Given the description of an element on the screen output the (x, y) to click on. 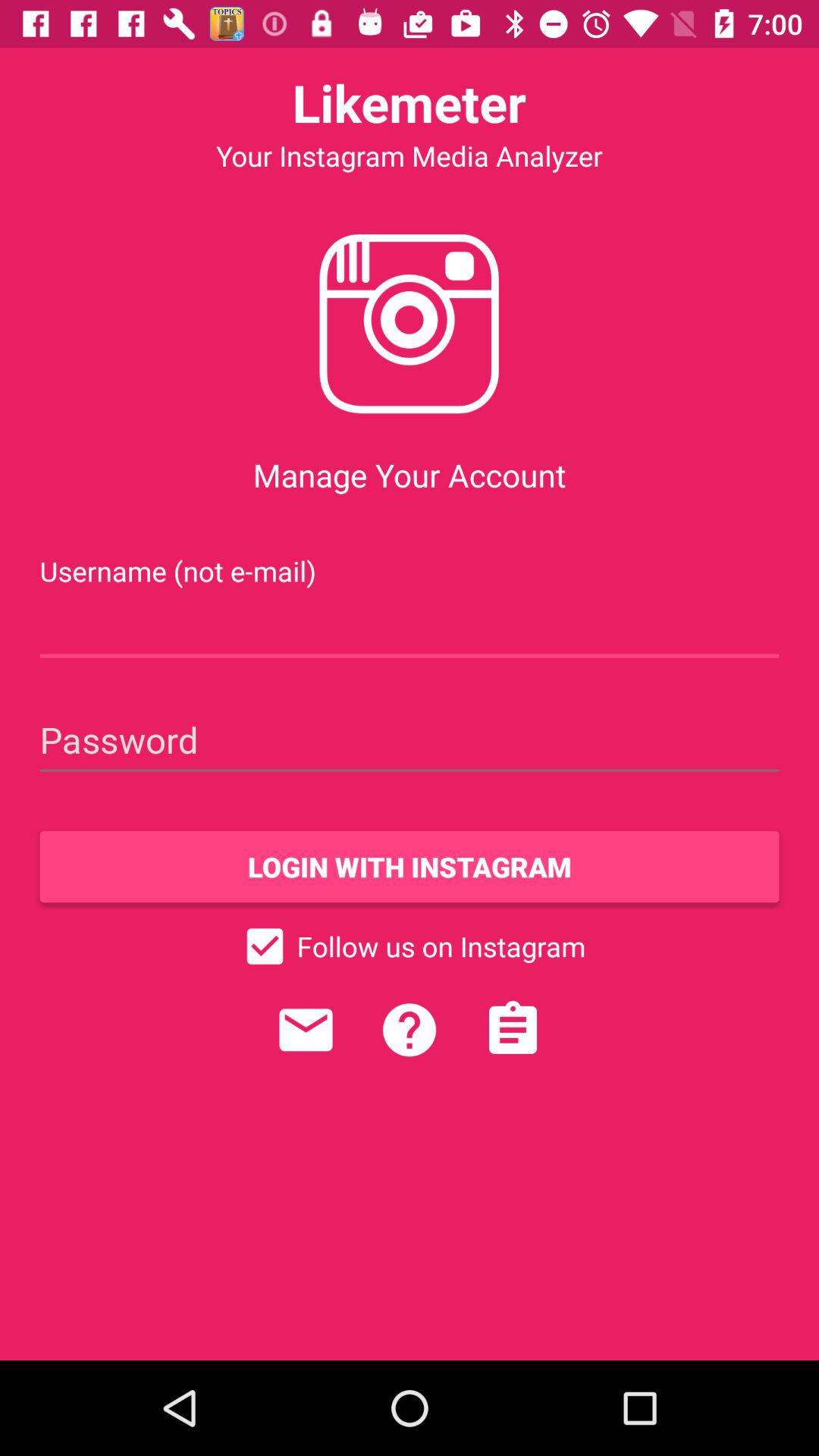
choose the item below the follow us on icon (305, 1029)
